Given the description of an element on the screen output the (x, y) to click on. 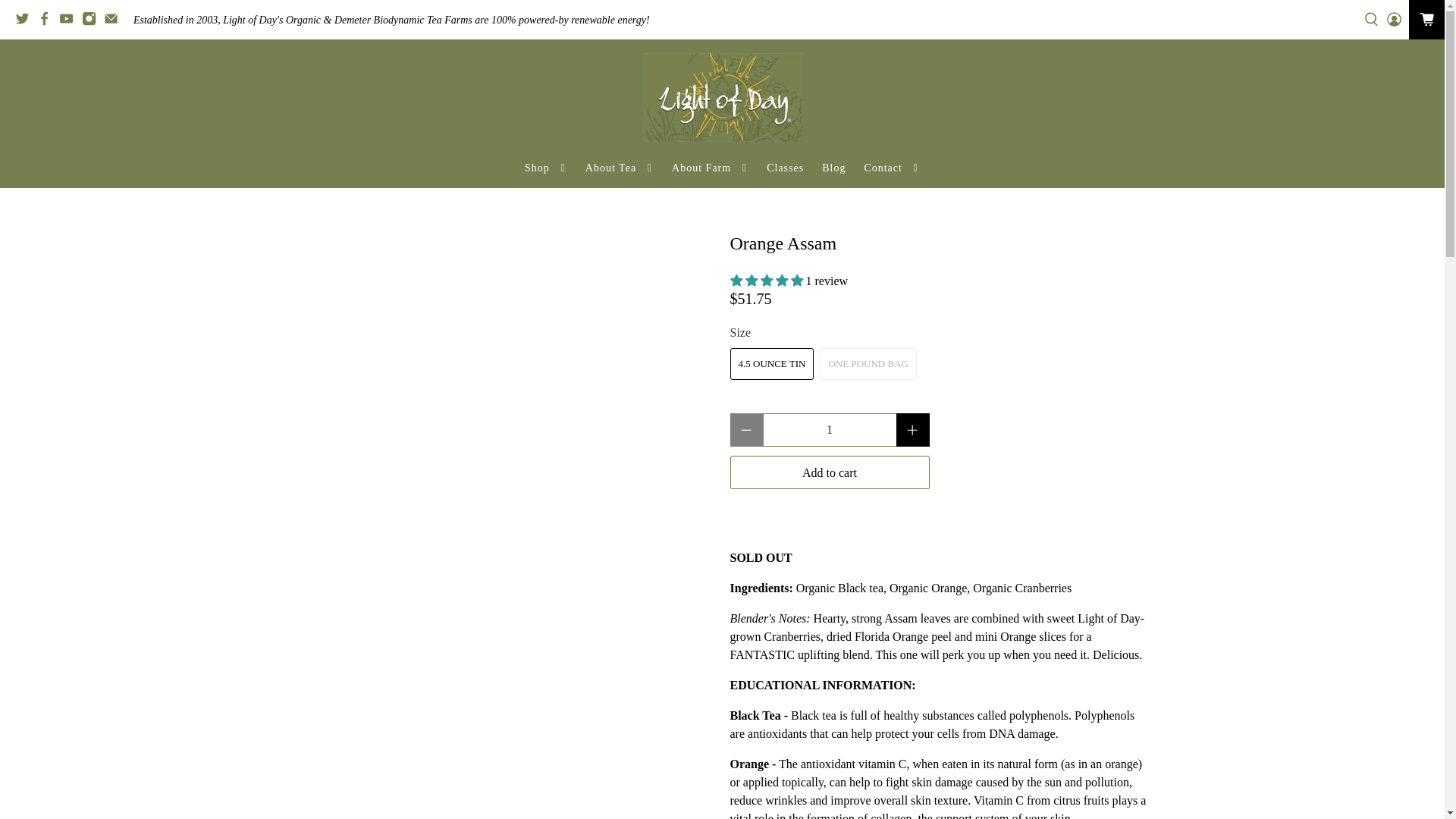
Light of Day Organics on Instagram (92, 22)
Light of Day Organics on Twitter (25, 22)
1 (828, 429)
Light of Day Organics (722, 97)
Shop (545, 168)
Light of Day Organics on Facebook (48, 22)
About Tea (619, 168)
Email Light of Day Organics (114, 22)
Light of Day Organics on YouTube (70, 22)
